Given the description of an element on the screen output the (x, y) to click on. 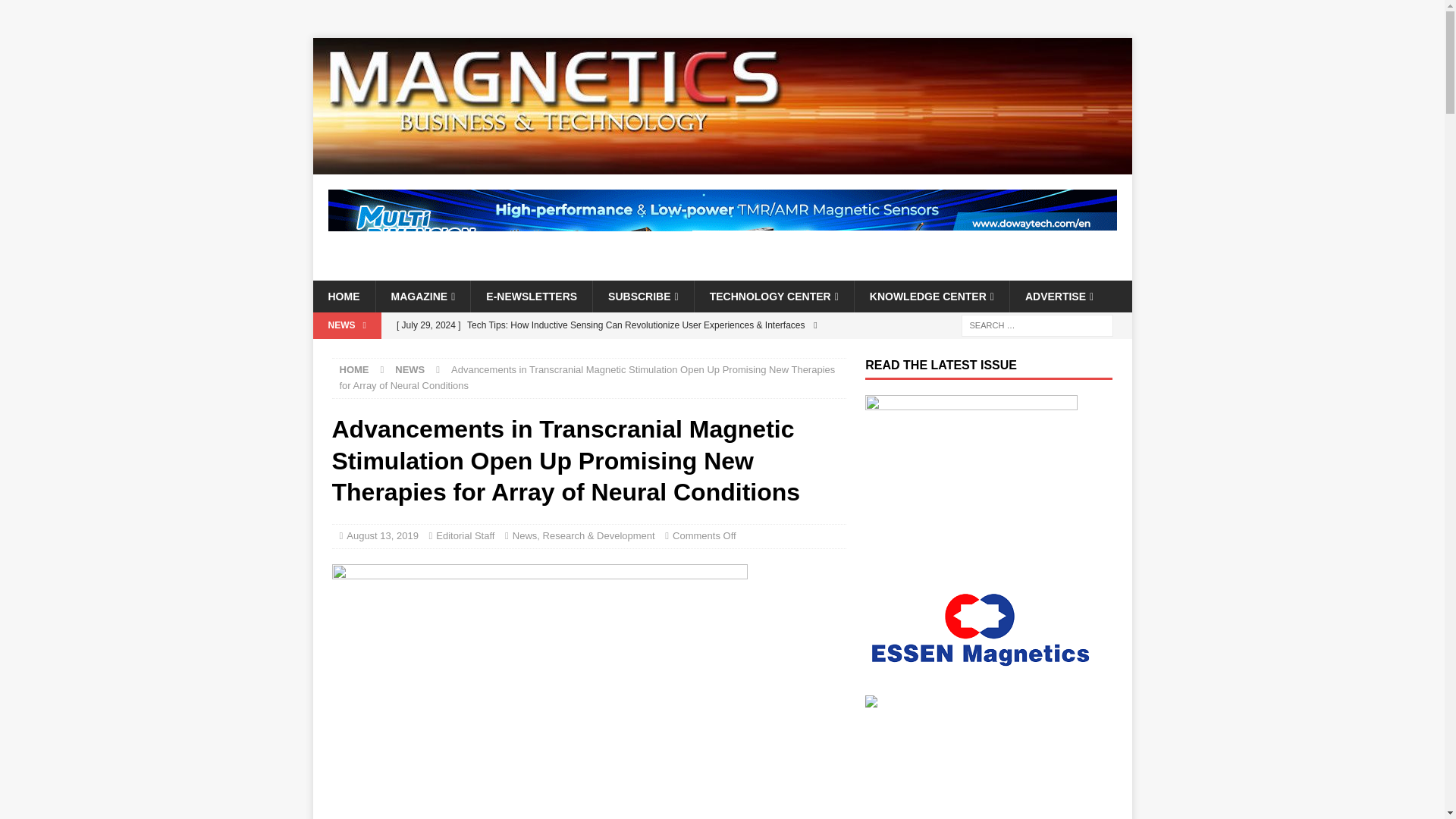
Magnetics Magazine (722, 165)
SUBSCRIBE (643, 296)
Search (56, 11)
ADVERTISE (1058, 296)
MAGAZINE (422, 296)
TECHNOLOGY CENTER (773, 296)
E-NEWSLETTERS (531, 296)
KNOWLEDGE CENTER (931, 296)
HOME (343, 296)
